Given the description of an element on the screen output the (x, y) to click on. 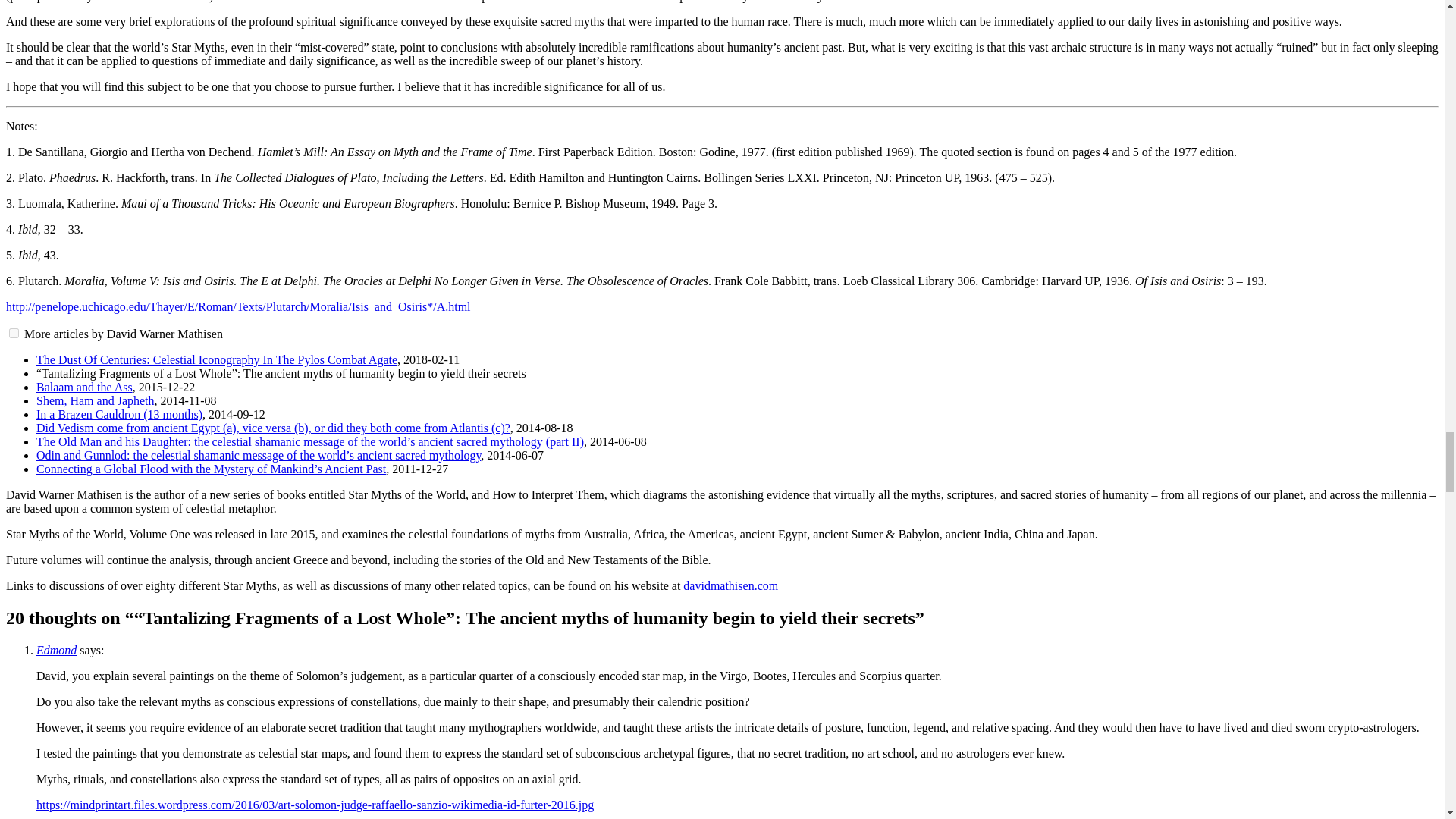
on (13, 333)
